Given the description of an element on the screen output the (x, y) to click on. 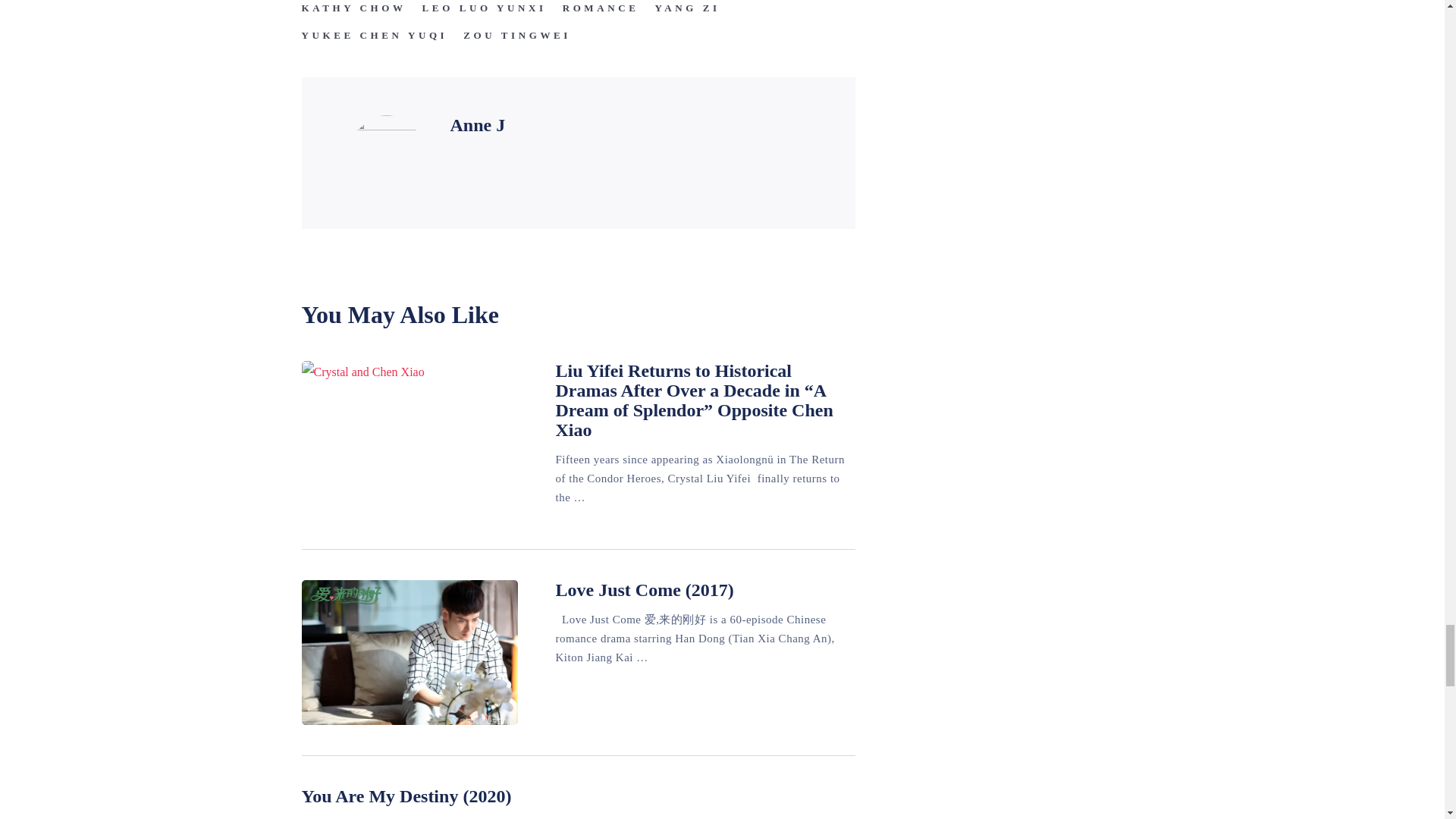
LEO LUO YUNXI (484, 7)
Anne J (477, 125)
ZOU TINGWEI (516, 35)
ROMANCE (600, 7)
YANG ZI (686, 7)
YUKEE CHEN YUQI (374, 35)
KATHY CHOW (353, 7)
